Given the description of an element on the screen output the (x, y) to click on. 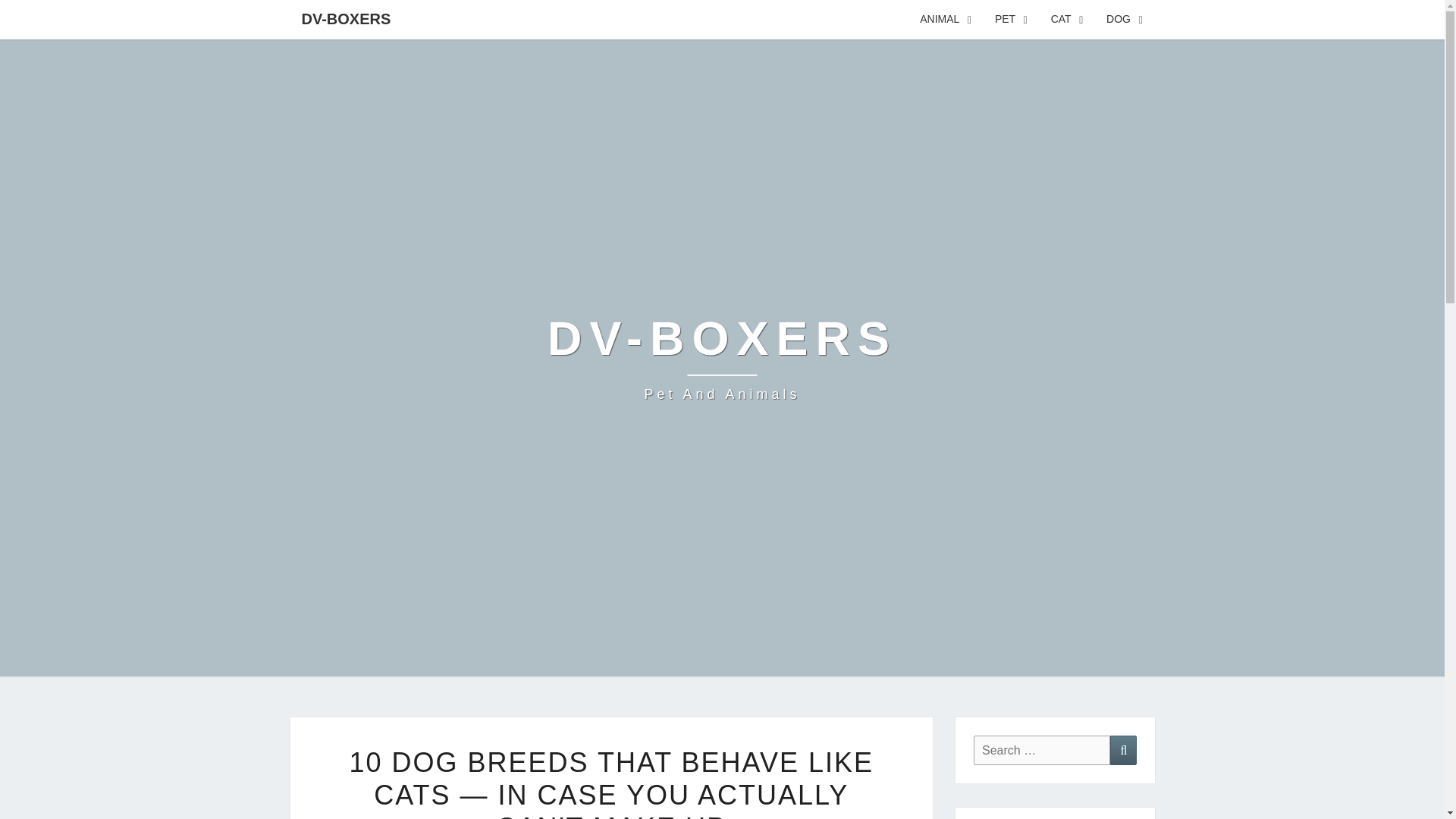
PET (1011, 19)
DV-BOXERS (345, 18)
DOG (1124, 19)
CAT (1066, 19)
DV-Boxers (721, 357)
ANIMAL (721, 357)
Search for: (946, 19)
